Given the description of an element on the screen output the (x, y) to click on. 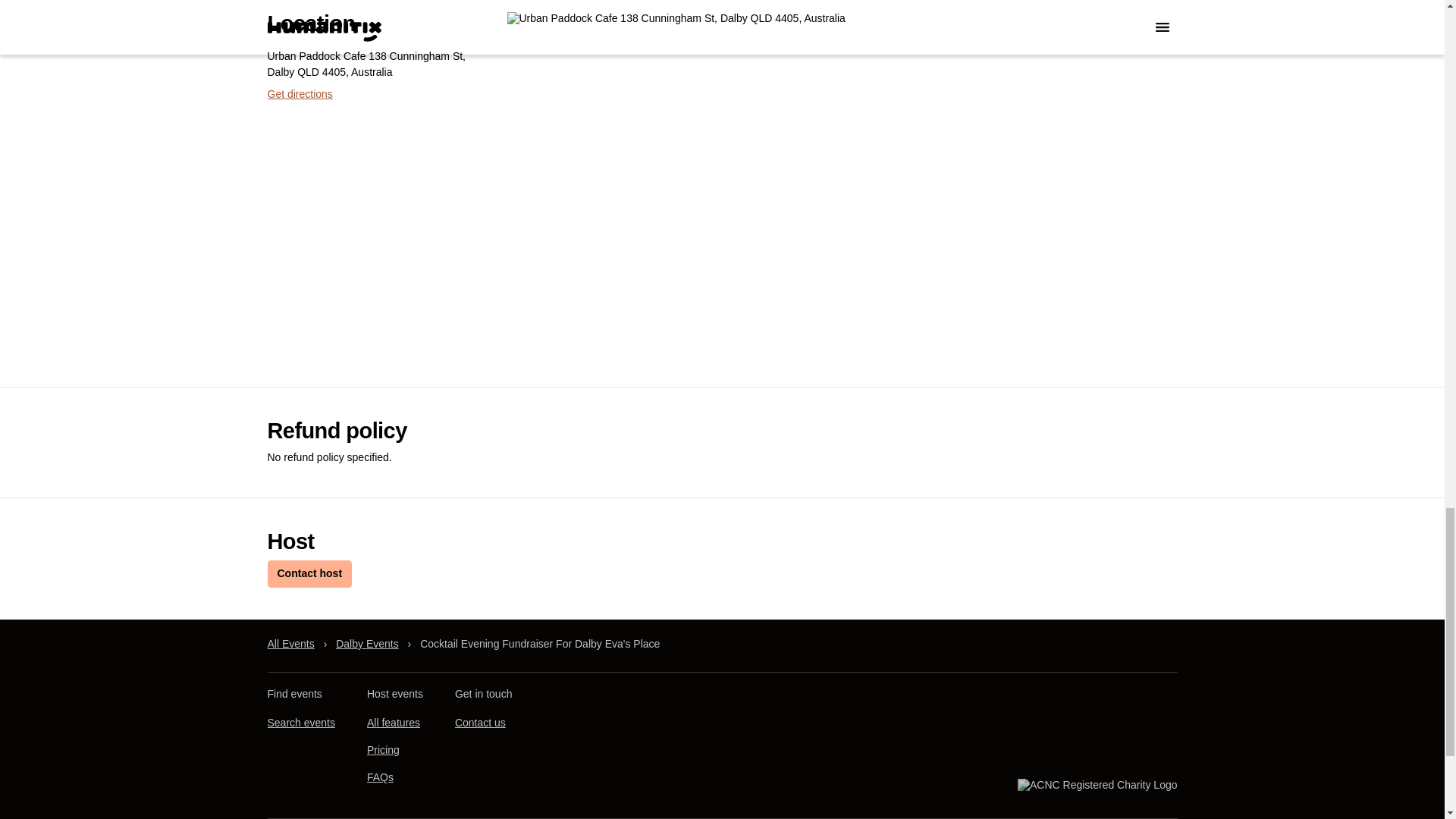
Dalby Events (366, 643)
FAQs (379, 777)
Search events (300, 722)
All features (393, 722)
Get directions (298, 93)
Cocktail Evening Fundraiser For Dalby Eva'S Place (539, 643)
All Events (290, 643)
Contact host (309, 574)
Pricing (382, 749)
Contact us (479, 722)
